Given the description of an element on the screen output the (x, y) to click on. 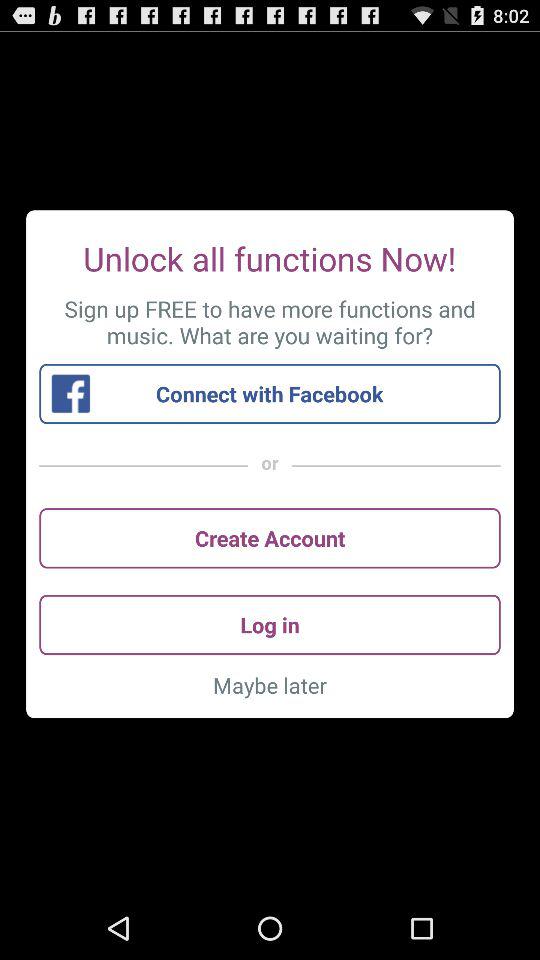
scroll to the create account button (269, 538)
